Given the description of an element on the screen output the (x, y) to click on. 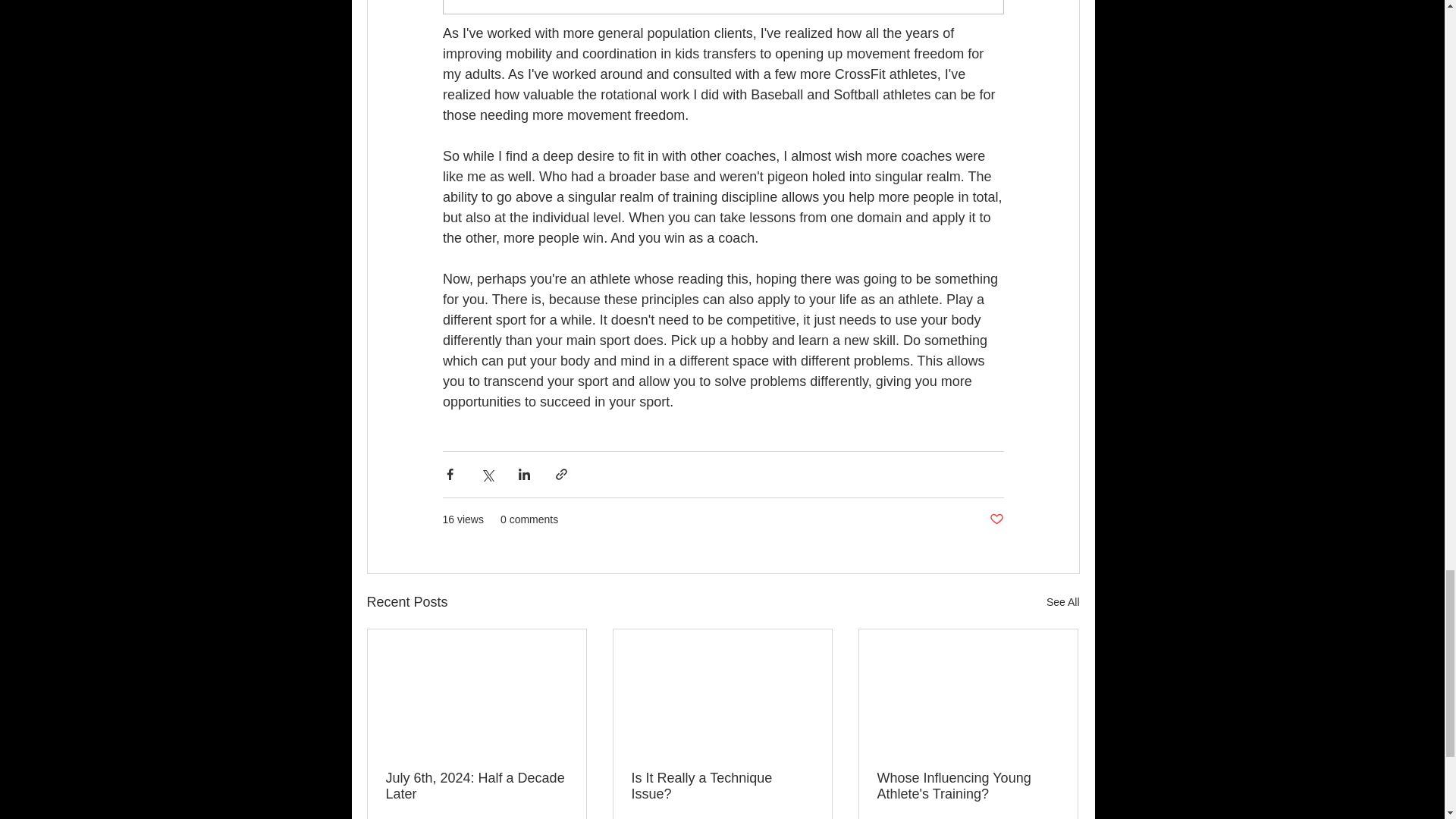
Is It Really a Technique Issue? (721, 786)
See All (1063, 602)
Whose Influencing Young Athlete's Training? (967, 786)
Post not marked as liked (995, 519)
July 6th, 2024: Half a Decade Later (476, 786)
